Given the description of an element on the screen output the (x, y) to click on. 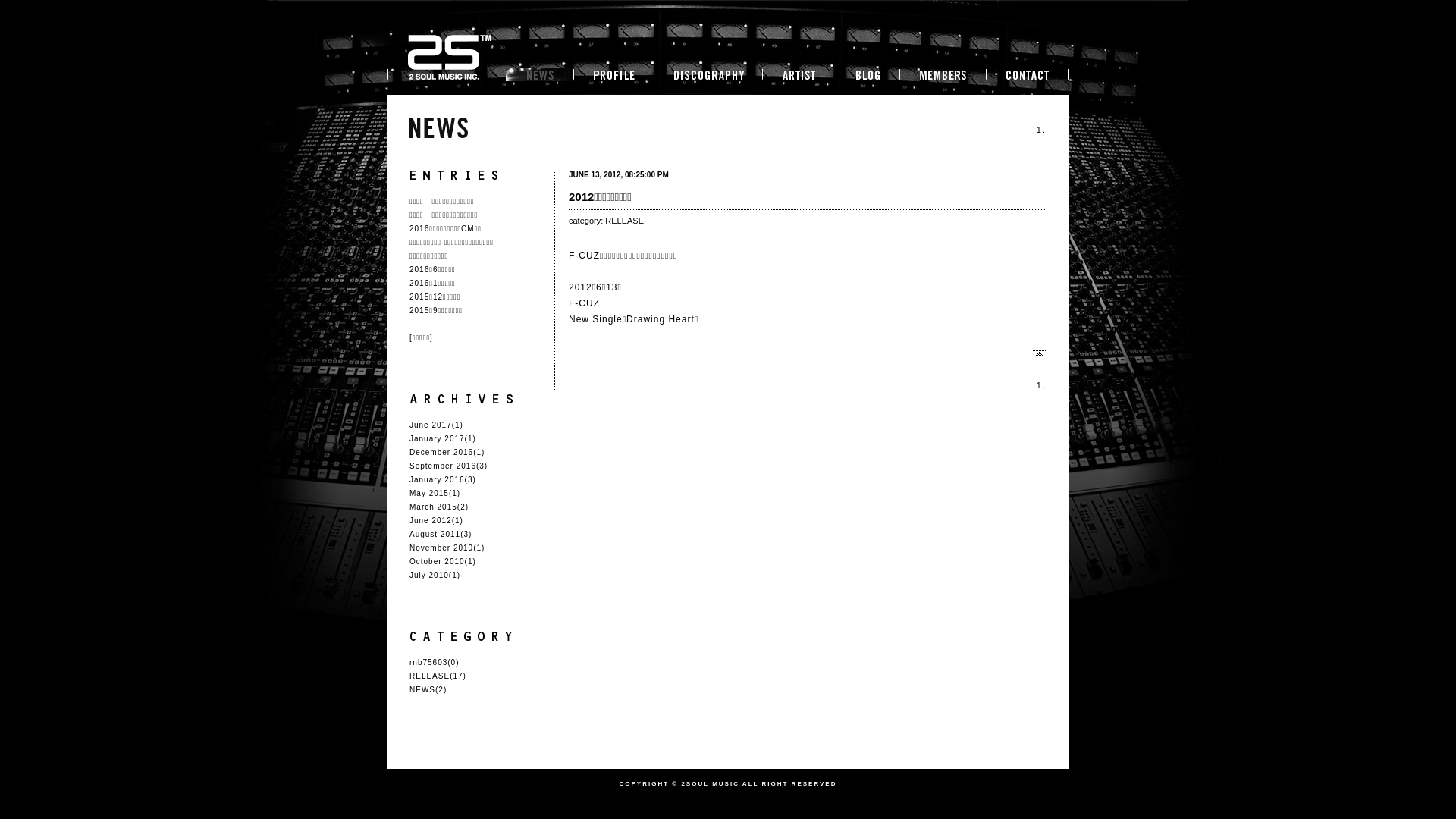
May 2015(1) Element type: text (434, 493)
DISCOGRAPHY Element type: hover (706, 76)
NEWS Element type: hover (538, 76)
October 2010(1) Element type: text (442, 561)
March 2015(2) Element type: text (438, 506)
CONTACT Element type: hover (1027, 74)
BLOG Element type: hover (866, 74)
NEWS Element type: hover (538, 74)
June 2017(1) Element type: text (436, 424)
HOME Element type: hover (445, 76)
rnb75603(0) Element type: text (433, 662)
January 2017(1) Element type: text (442, 438)
July 2010(1) Element type: text (434, 575)
November 2010(1) Element type: text (446, 547)
August 2011(3) Element type: text (440, 534)
June 2012(1) Element type: text (436, 520)
NEWS Element type: hover (438, 127)
CONTACT Element type: hover (1027, 76)
BLOG Element type: hover (866, 76)
NEWS(2) Element type: text (427, 689)
ARTIST Element type: hover (797, 74)
MEMBERS Element type: hover (941, 74)
ARTIST Element type: hover (797, 76)
MEMBERS Element type: hover (941, 76)
September 2016(3) Element type: text (448, 465)
December 2016(1) Element type: text (446, 452)
January 2016(3) Element type: text (442, 479)
PROFILE Element type: hover (612, 74)
DISCOGRAPHY Element type: hover (706, 74)
RELEASE(17) Element type: text (437, 675)
PROFILE Element type: hover (612, 76)
